Given the description of an element on the screen output the (x, y) to click on. 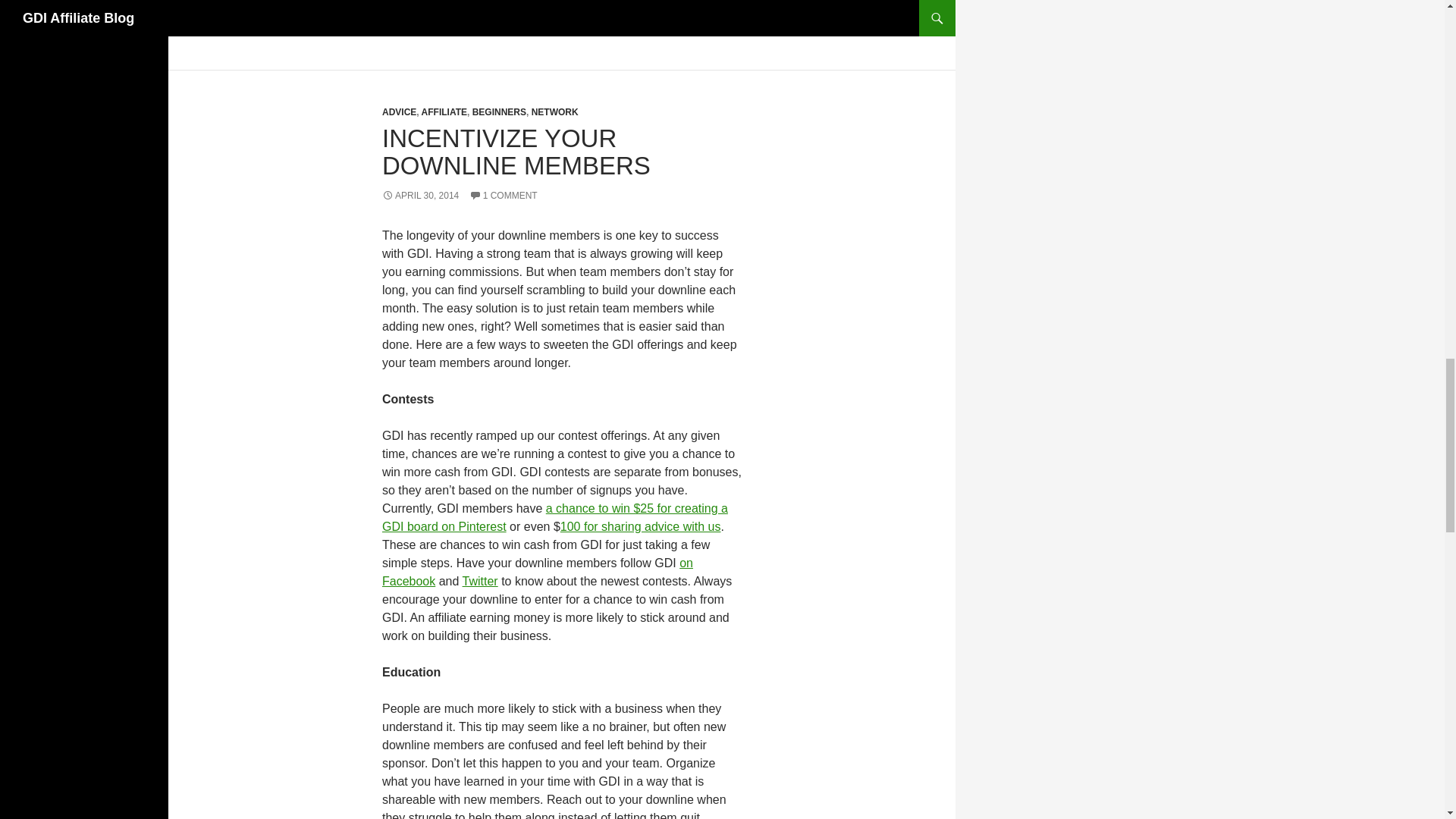
AFFILIATE (444, 112)
NETWORKING FOR INTROVERTS (462, 23)
BEGINNERS (498, 112)
THE SECRET TO NETWORKING (613, 23)
LEAD GENERATION (435, 6)
NETWORKING (574, 6)
100 for sharing advice with us (640, 526)
on Facebook (537, 572)
NETWORK (554, 112)
LEADS (510, 6)
